Given the description of an element on the screen output the (x, y) to click on. 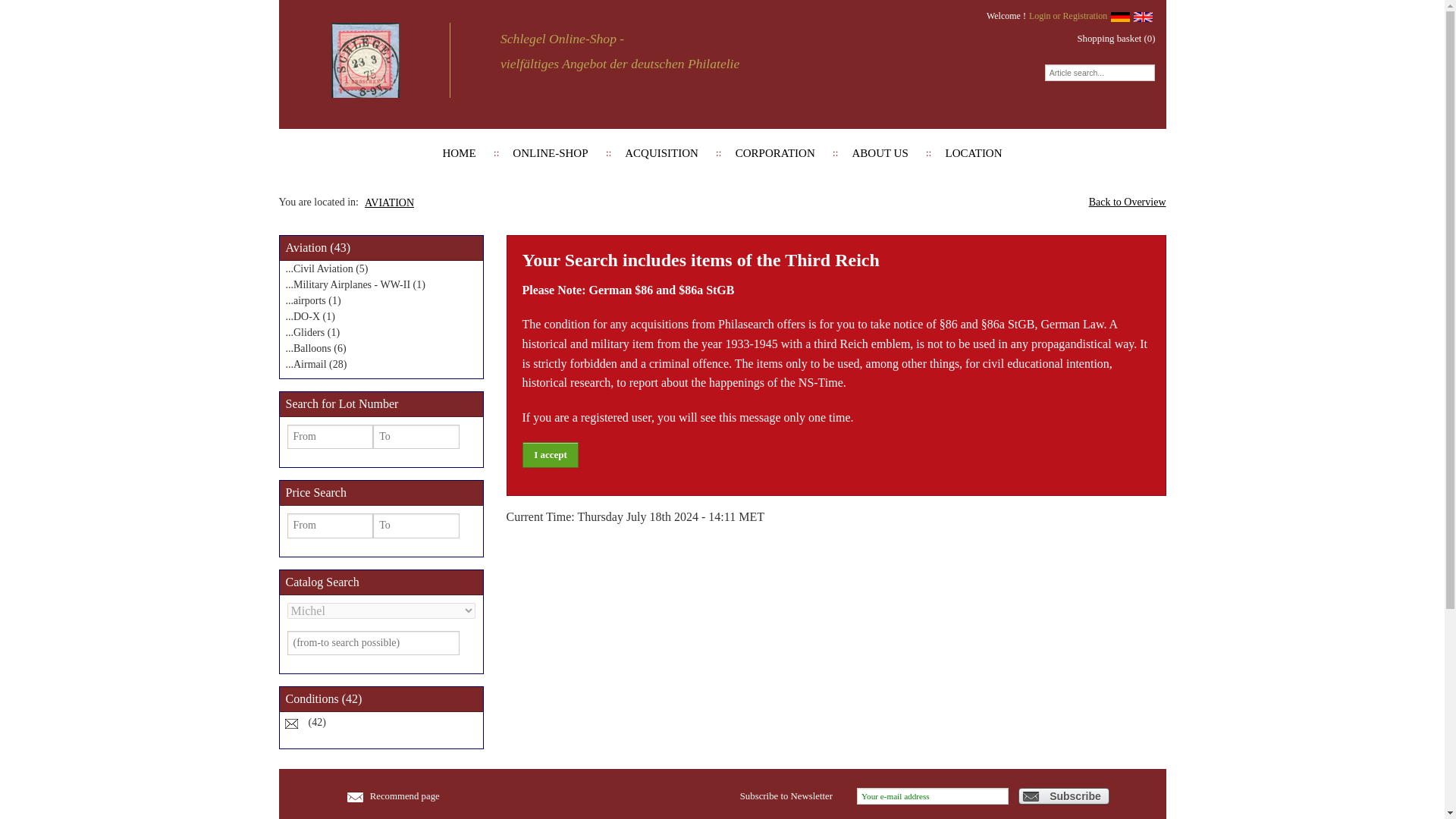
LOCATION (973, 152)
ABOUT US (879, 152)
AVIATION (389, 202)
ACQUISITION (661, 152)
I accept (549, 454)
Back to Overview (1127, 202)
Login or Registration (1067, 15)
I accept (549, 454)
Recommend page (363, 796)
Subscribe (1062, 795)
CORPORATION (775, 152)
Cover (291, 722)
HOME (459, 152)
ONLINE-SHOP (550, 152)
